Given the description of an element on the screen output the (x, y) to click on. 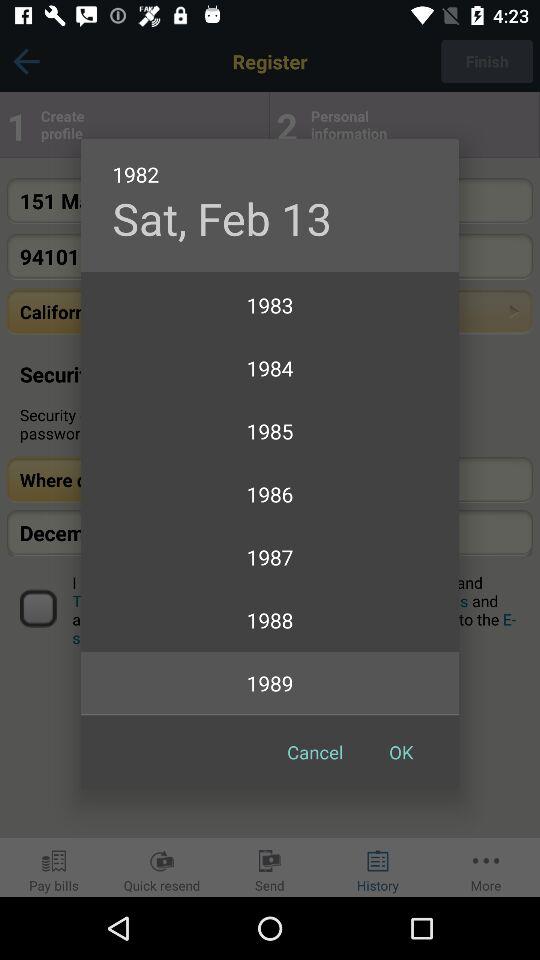
jump until cancel (315, 751)
